Given the description of an element on the screen output the (x, y) to click on. 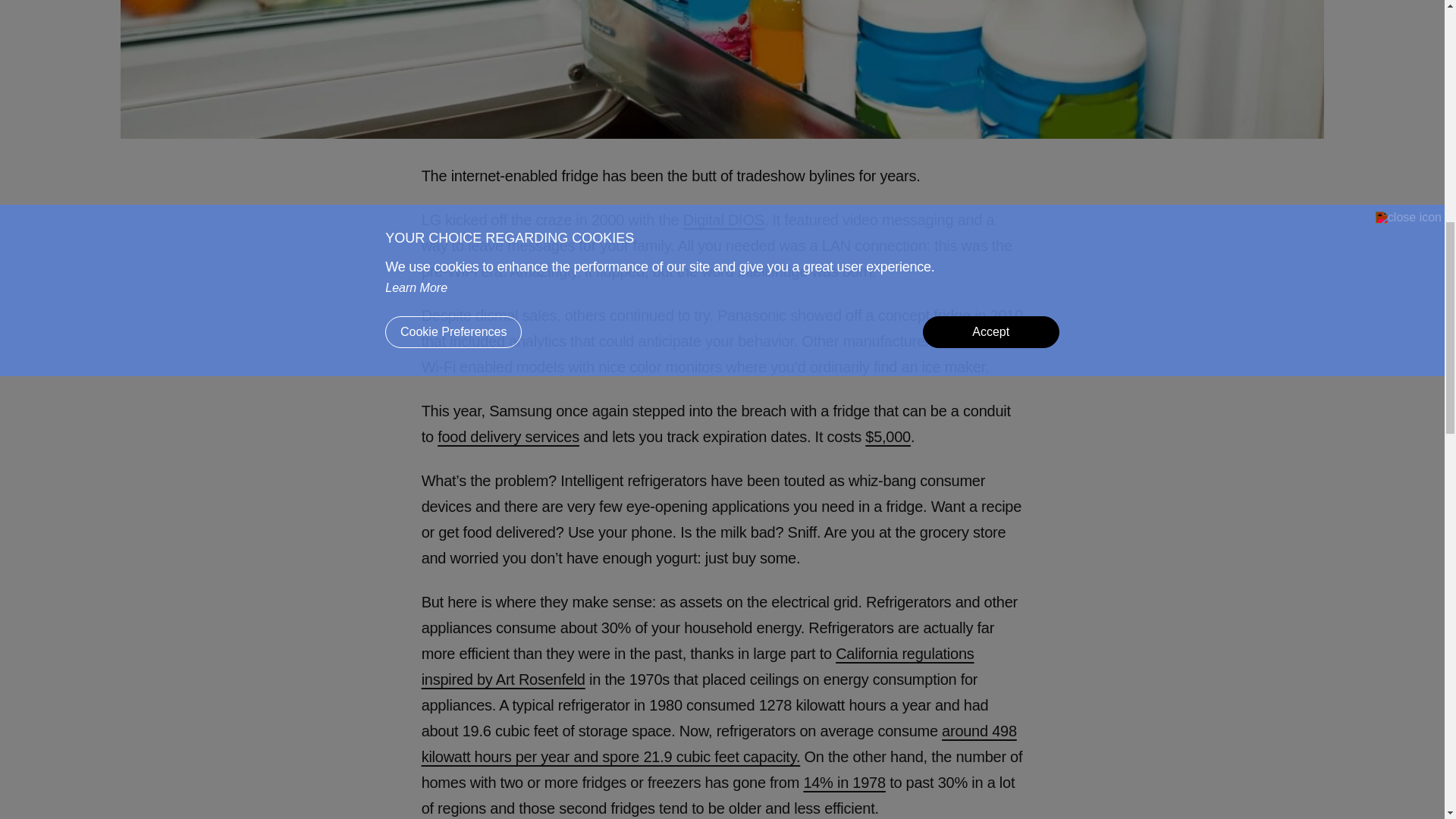
California regulations inspired by Art Rosenfeld (698, 666)
Digital DIOS (723, 219)
food delivery services (508, 436)
